Given the description of an element on the screen output the (x, y) to click on. 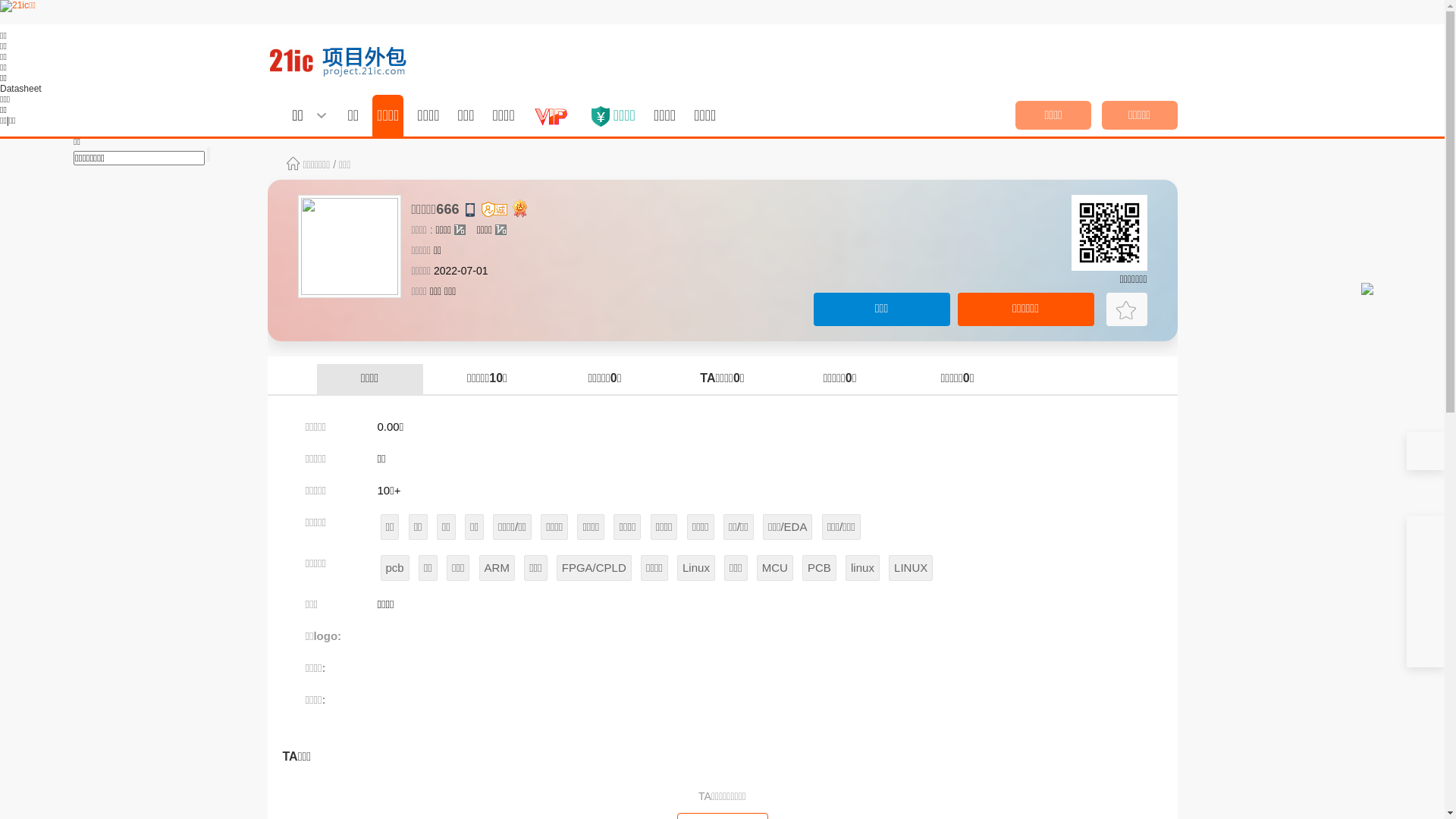
Datasheet Element type: text (20, 88)
ARM Element type: text (496, 567)
LINUX Element type: text (910, 567)
Linux Element type: text (696, 567)
pcb Element type: text (394, 567)
PCB Element type: text (819, 567)
MCU Element type: text (774, 567)
linux Element type: text (862, 567)
FPGA/CPLD Element type: text (593, 567)
